Given the description of an element on the screen output the (x, y) to click on. 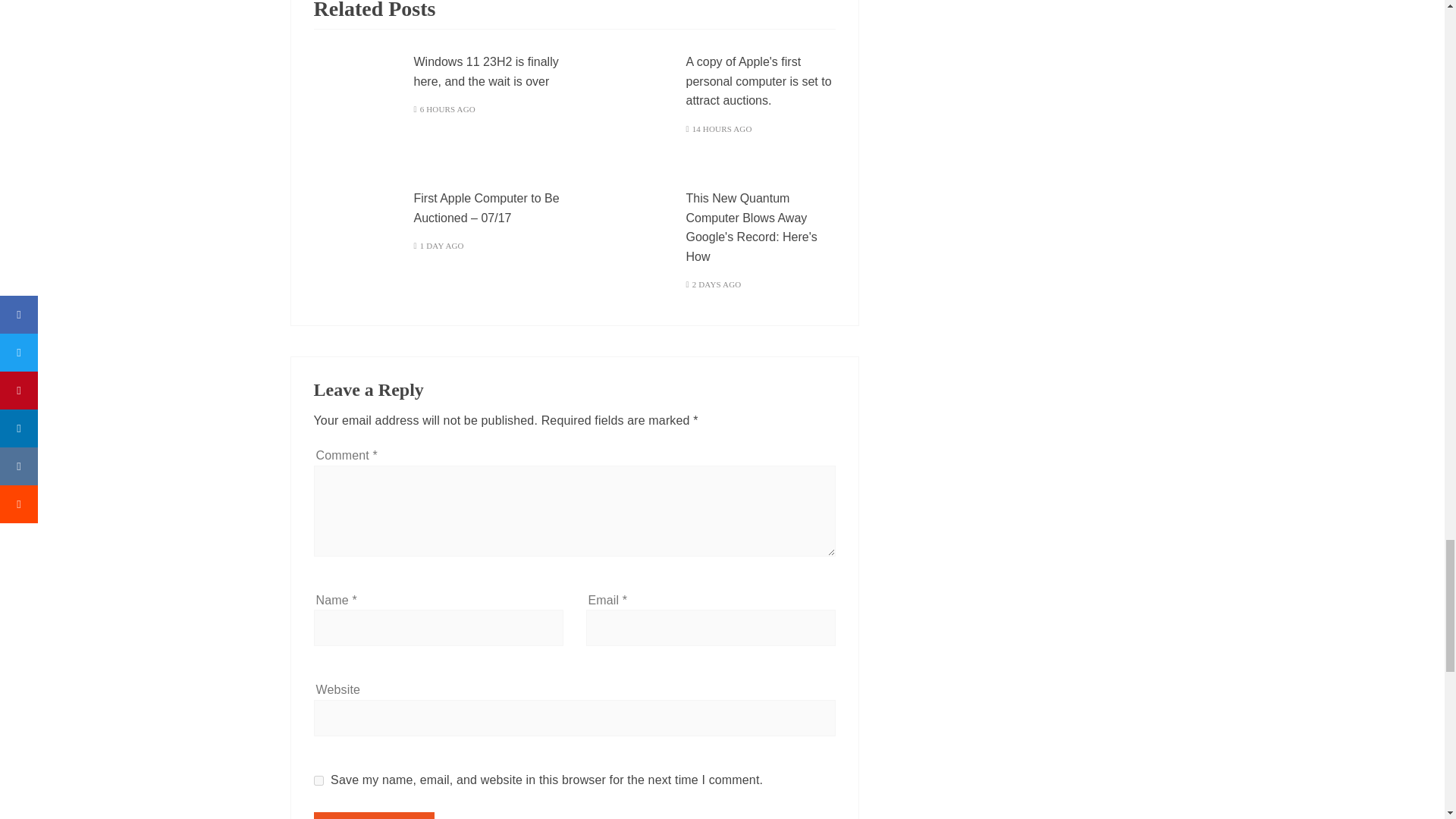
yes (318, 780)
Post Comment (374, 815)
Windows 11 23H2 is finally here, and the wait is over (486, 71)
